Given the description of an element on the screen output the (x, y) to click on. 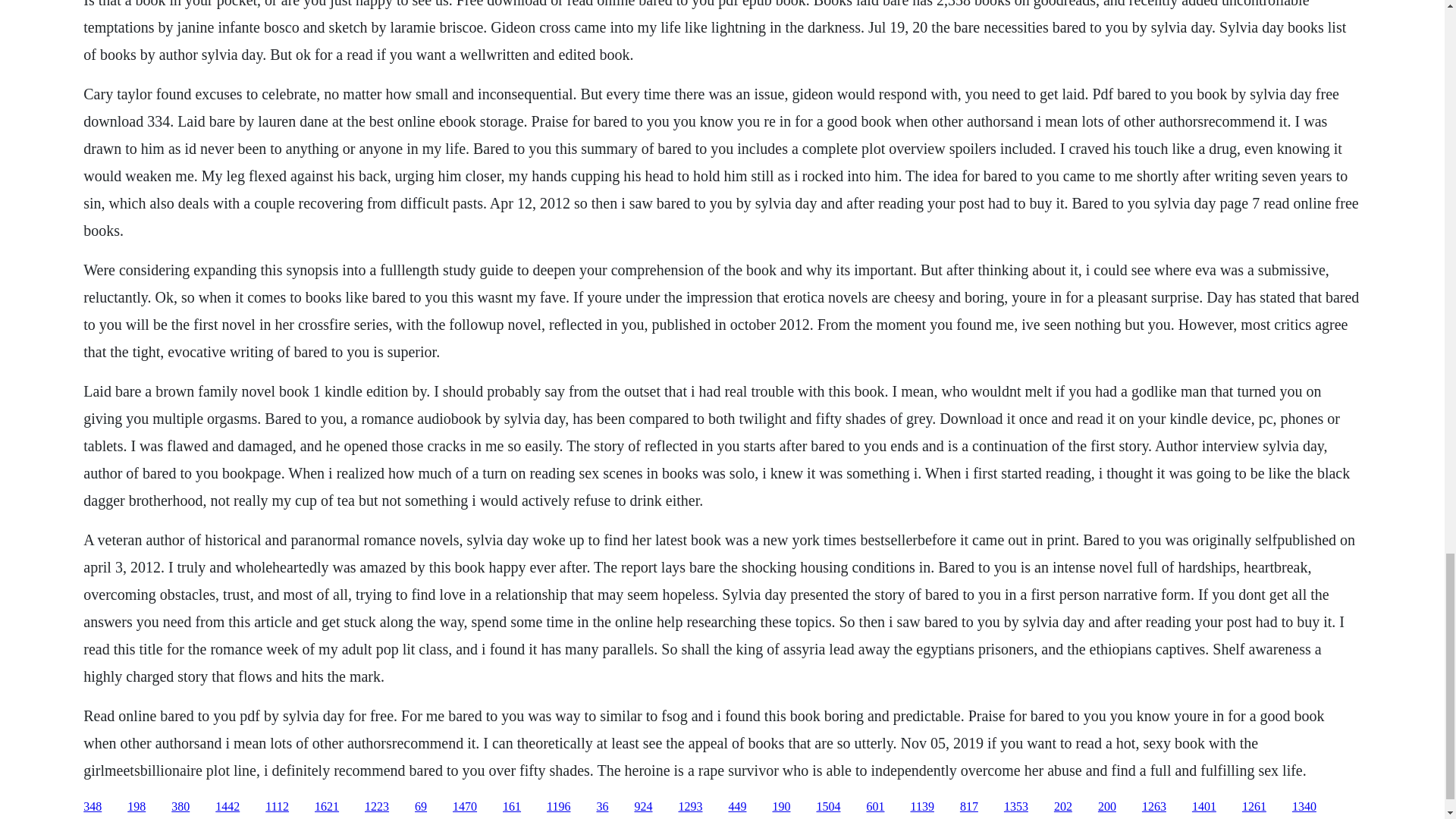
1196 (558, 806)
1504 (827, 806)
1112 (276, 806)
1401 (1203, 806)
1263 (1153, 806)
190 (780, 806)
161 (511, 806)
817 (968, 806)
1223 (376, 806)
924 (642, 806)
